Given the description of an element on the screen output the (x, y) to click on. 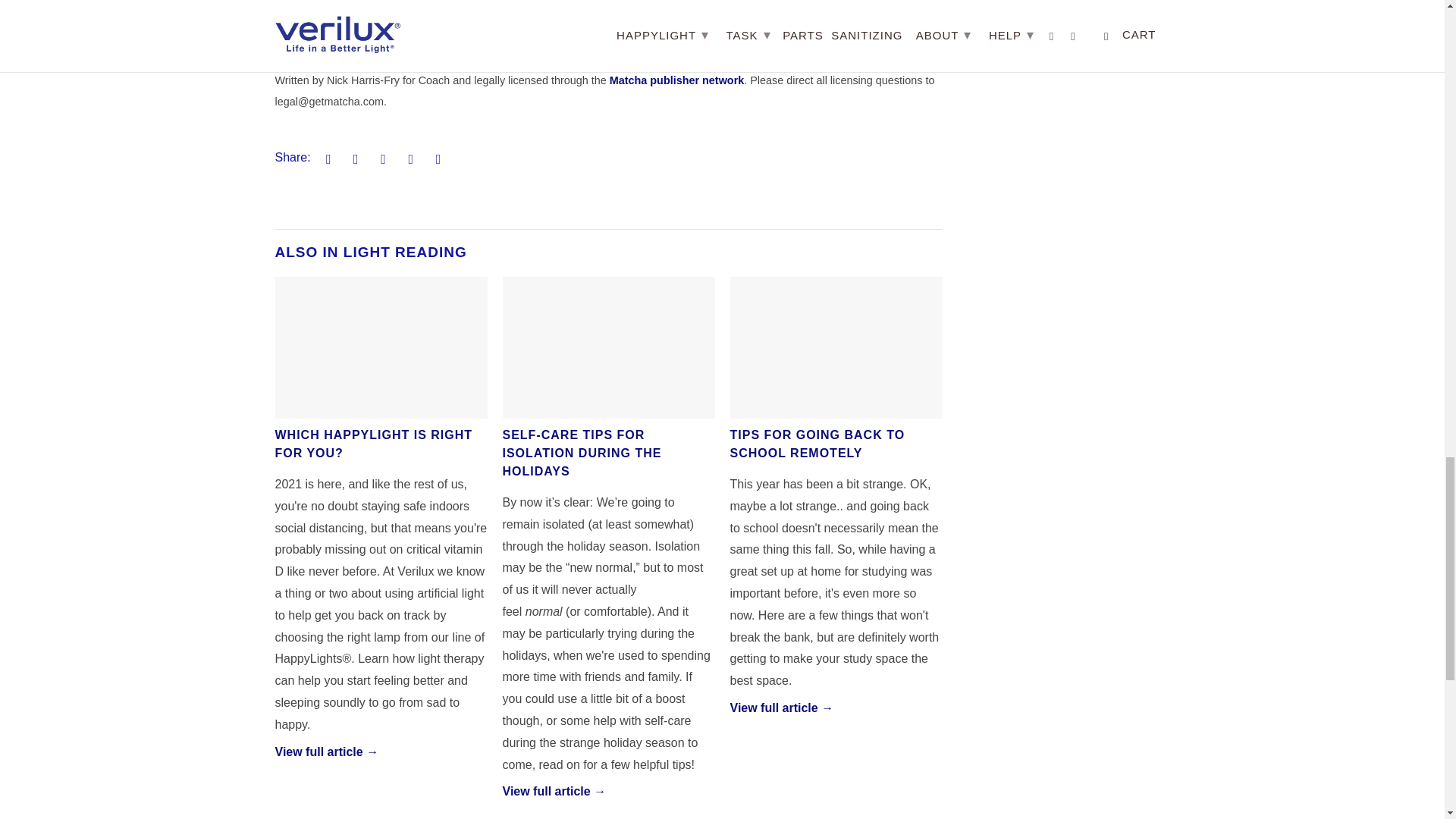
Share this on Twitter (325, 158)
Which HappyLight is right for you? (373, 443)
Which HappyLight is right for you? (326, 751)
Email this to a friend (435, 158)
Which HappyLight is right for you? (380, 347)
Share this on Pinterest (381, 158)
Share this on Facebook (352, 158)
Self-Care Tips For Isolation During The Holidays (608, 347)
Self-Care Tips For Isolation During The Holidays (581, 452)
